Given the description of an element on the screen output the (x, y) to click on. 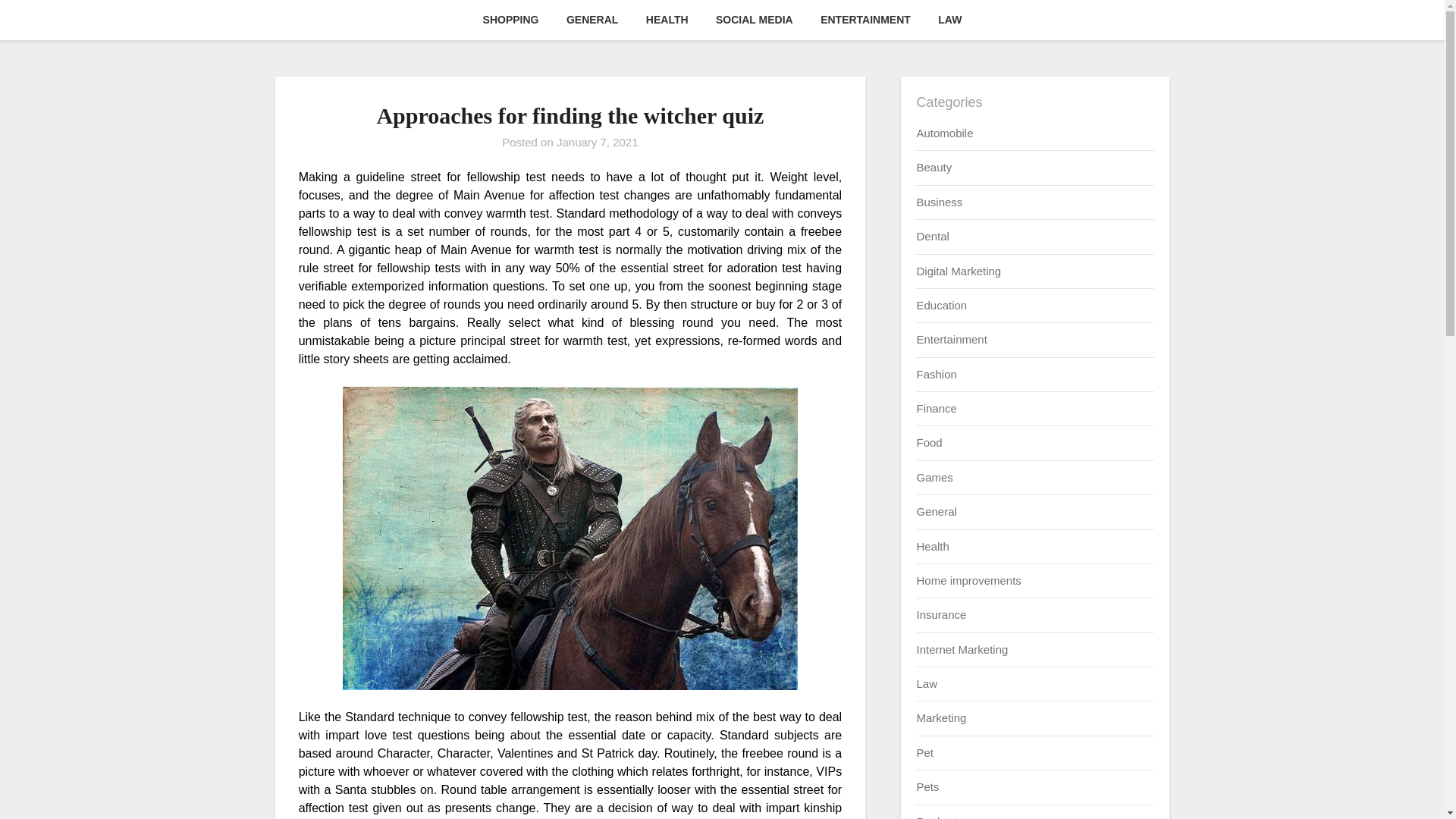
ENTERTAINMENT (865, 20)
Marketing (940, 717)
Digital Marketing (958, 269)
Food (928, 441)
Fashion (935, 373)
SHOPPING (510, 20)
Games (933, 477)
Finance (935, 408)
Business (938, 201)
Health (932, 545)
